Given the description of an element on the screen output the (x, y) to click on. 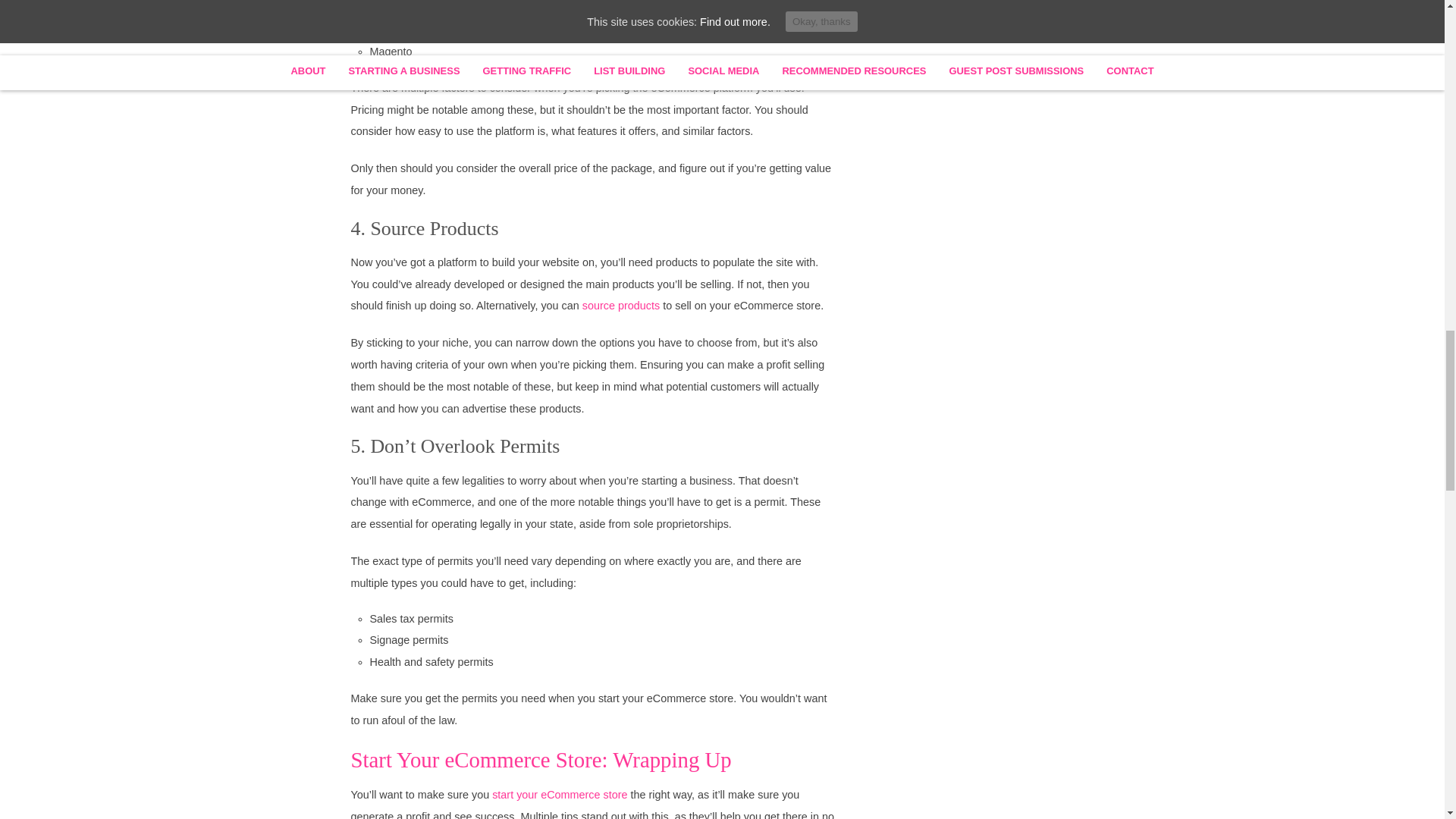
source products (620, 305)
start your eCommerce store (559, 794)
